Given the description of an element on the screen output the (x, y) to click on. 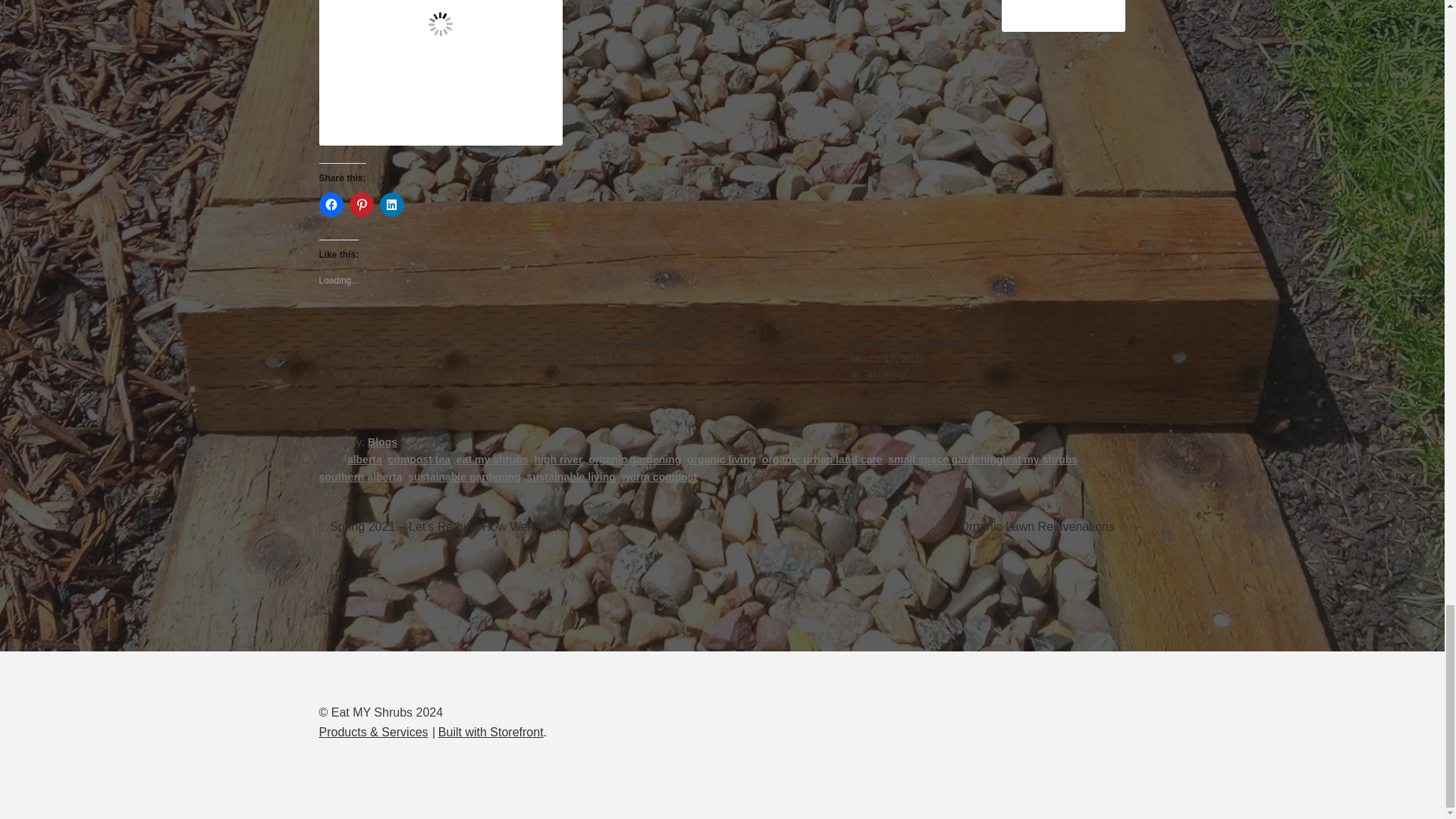
Click to share on LinkedIn (392, 204)
Organic Garden Sprays (641, 343)
Organic Lawn Rejuvenations (386, 343)
Click to share on Pinterest (361, 204)
Click to share on Facebook (330, 204)
